Given the description of an element on the screen output the (x, y) to click on. 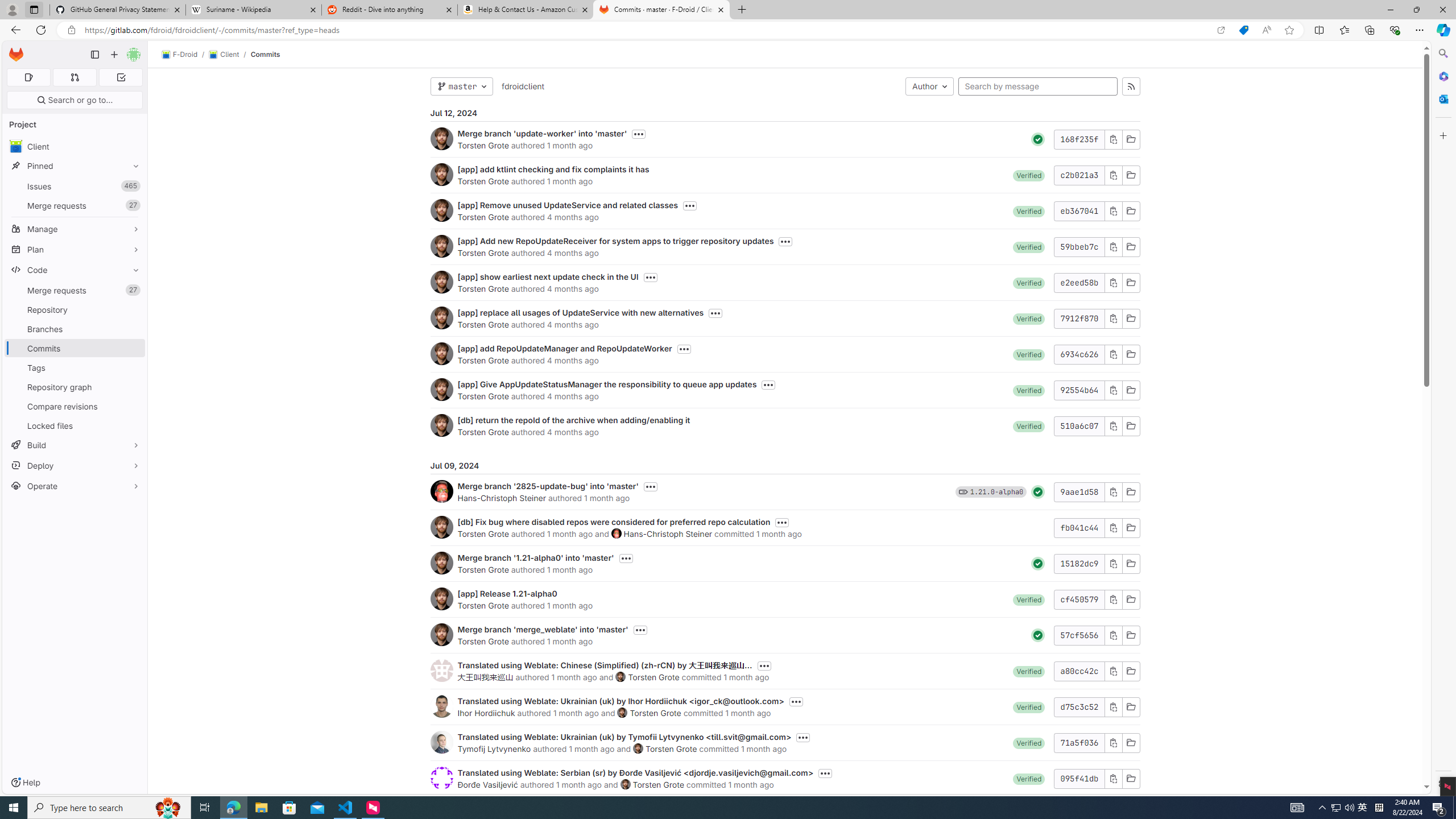
Class: s16 gl-icon gl-badge-icon (963, 491)
Tymofij Lytvynenko's avatar (440, 741)
F-Droid (179, 54)
Tags (74, 367)
Code (74, 269)
Build (74, 444)
Pin Tags (132, 367)
Assigned issues 0 (28, 76)
